Given the description of an element on the screen output the (x, y) to click on. 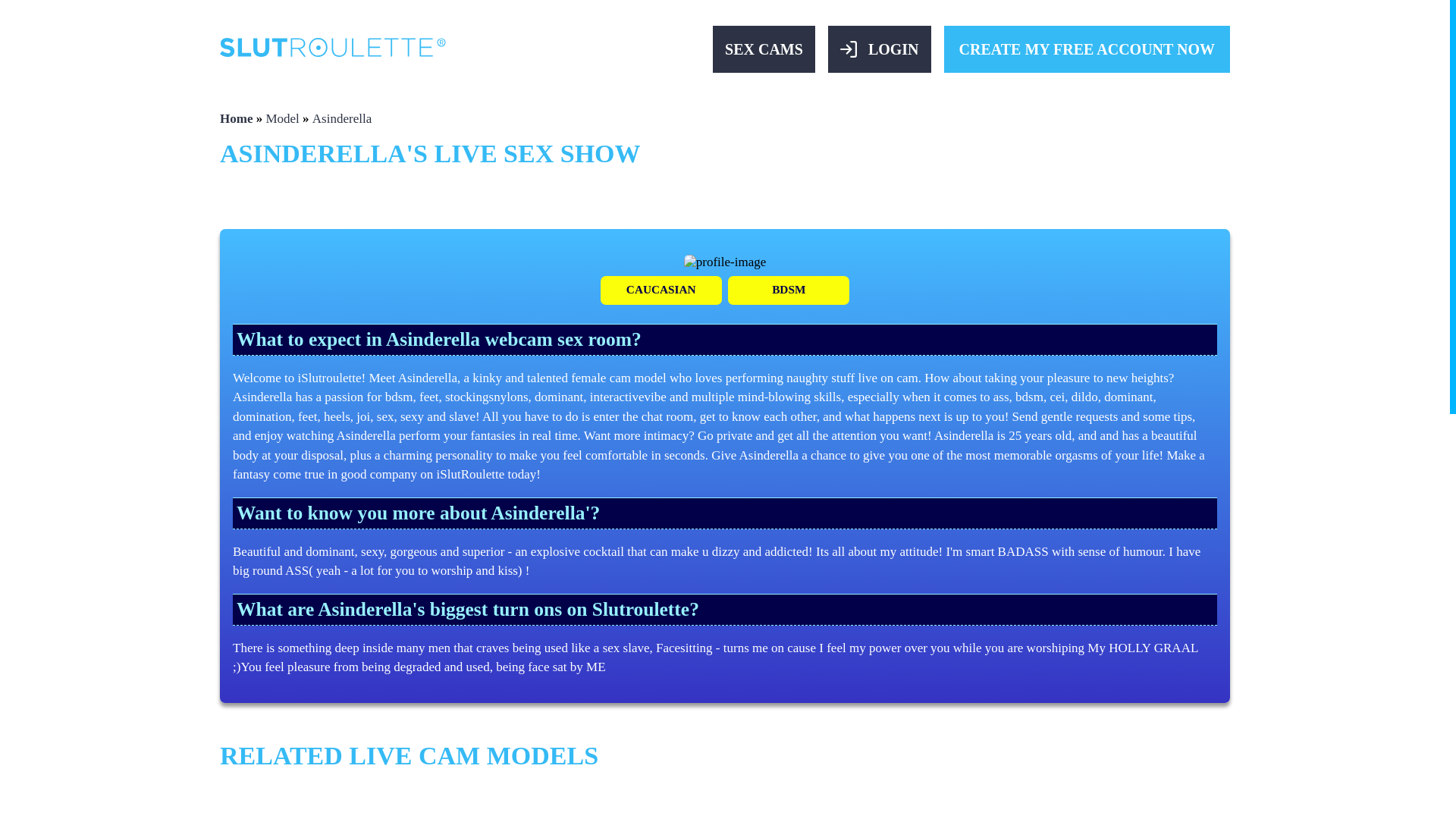
BDSM (788, 290)
Slutroulette webcam model named Shereejenkins (978, 804)
Slutroulette webcam model named Lenonie (808, 804)
Live cam models from the caucasian category (660, 290)
hayiden (471, 804)
CREATE MY FREE ACCOUNT NOW (1086, 48)
CAUCASIAN (660, 290)
Live cam models from the bdsm category (788, 290)
SEX CAMS (764, 48)
zairacook (640, 804)
